Given the description of an element on the screen output the (x, y) to click on. 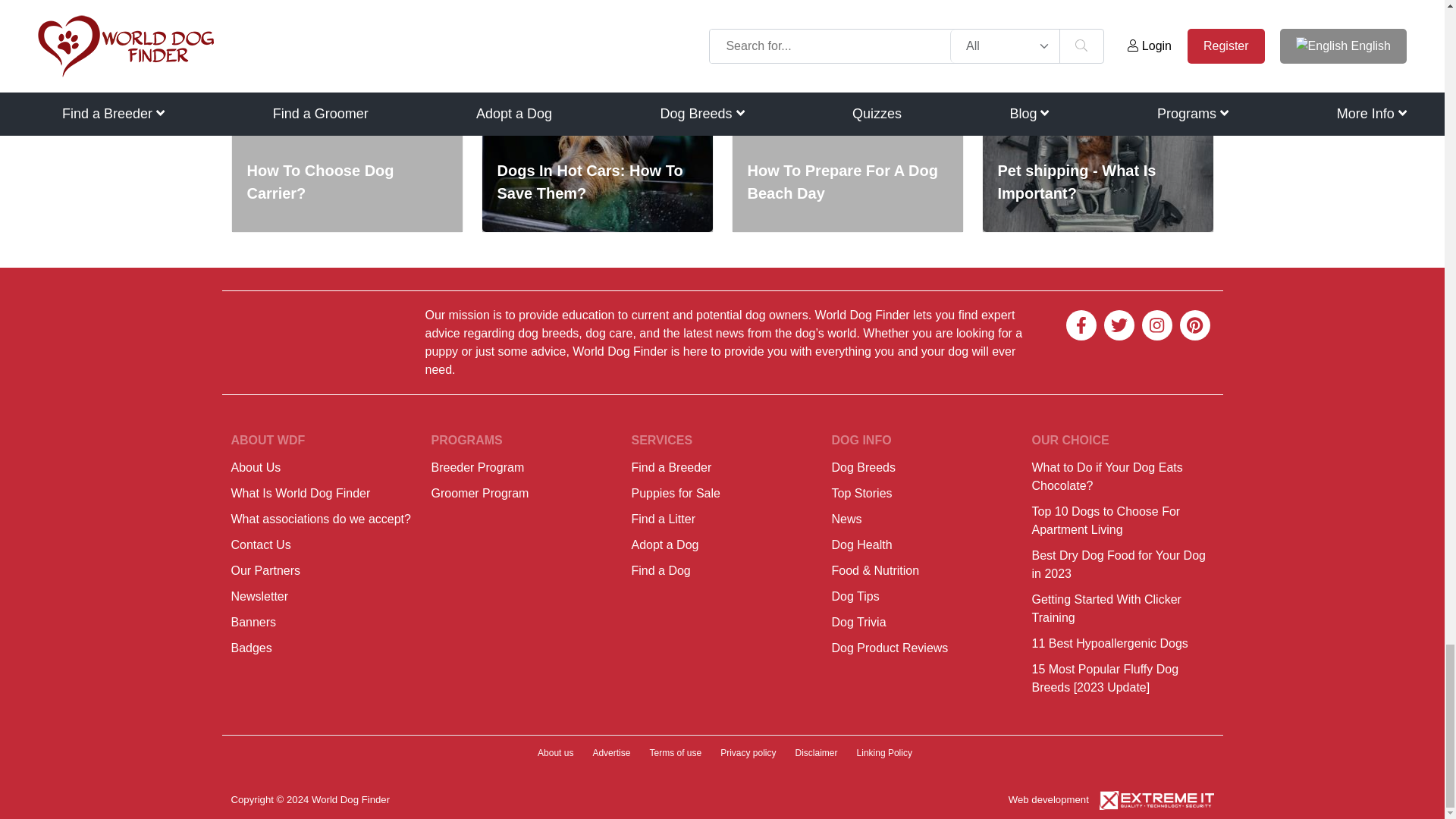
Share on pinterest (410, 13)
Share (456, 13)
Share on Facebook (319, 13)
Tweet (365, 13)
